Given the description of an element on the screen output the (x, y) to click on. 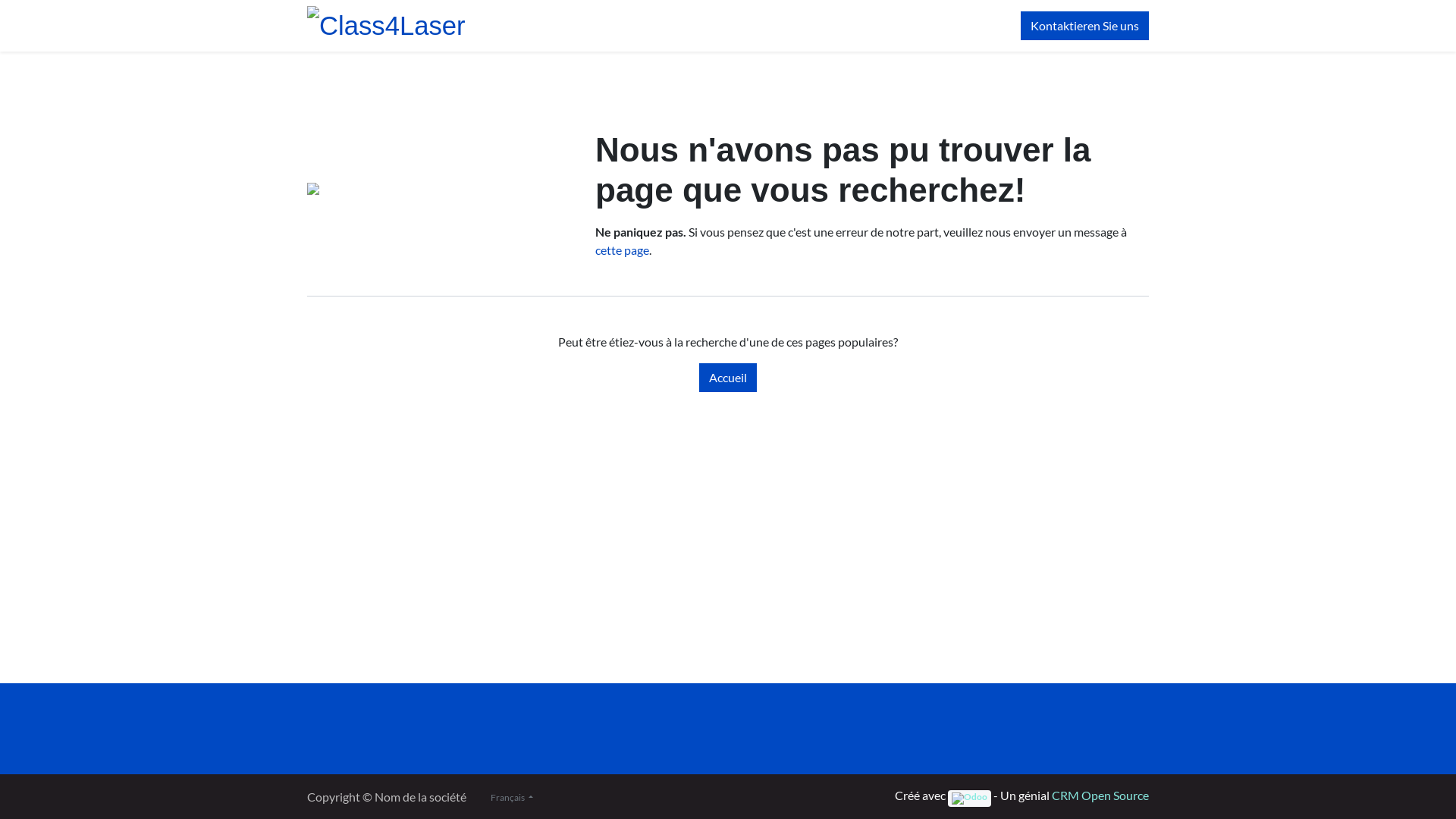
Accueil Element type: text (727, 377)
Class4Laser Element type: hover (386, 25)
CRM Open Source Element type: text (1099, 794)
Kontaktieren Sie uns Element type: text (1084, 25)
cette page Element type: text (622, 249)
